Given the description of an element on the screen output the (x, y) to click on. 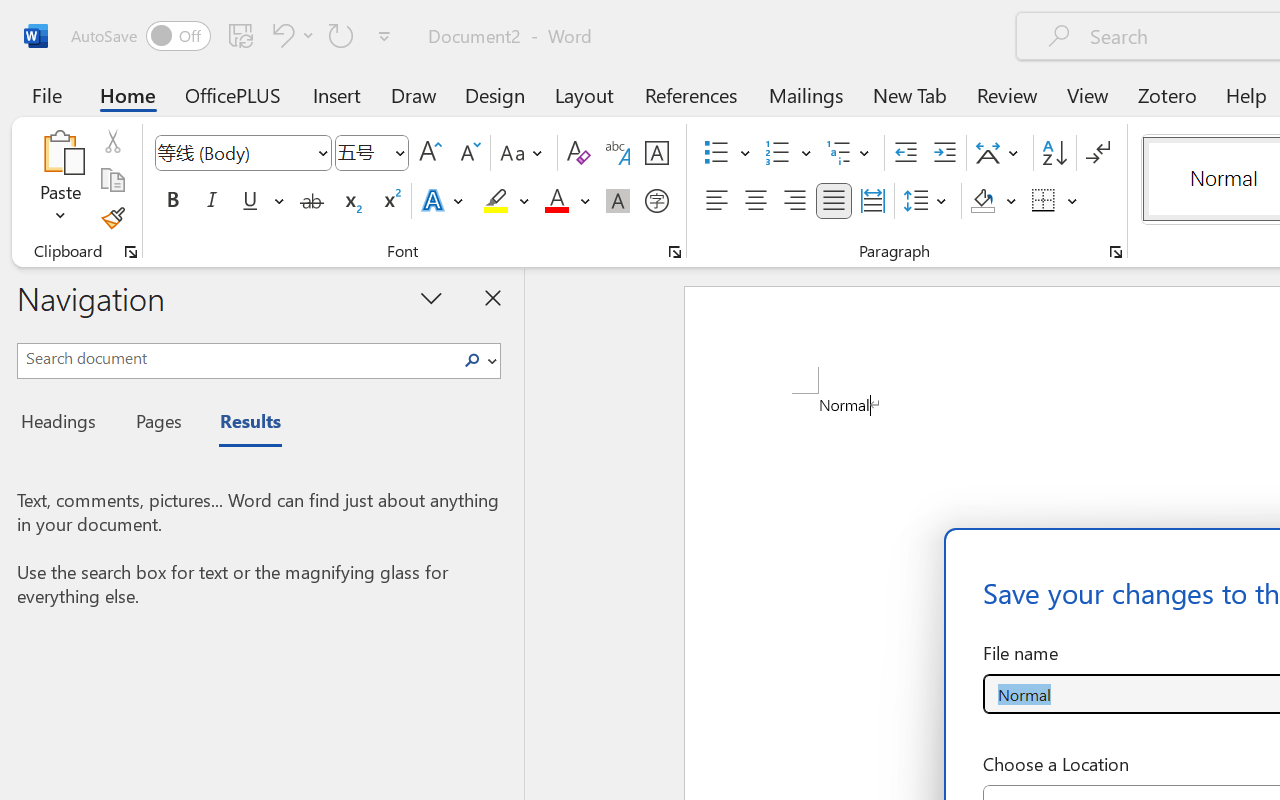
Text Highlight Color (506, 201)
Strikethrough (312, 201)
Quick Access Toolbar (233, 36)
New Tab (909, 94)
Numbering (788, 153)
Bold (172, 201)
Justify (834, 201)
Center (756, 201)
Font Color Red (556, 201)
